Given the description of an element on the screen output the (x, y) to click on. 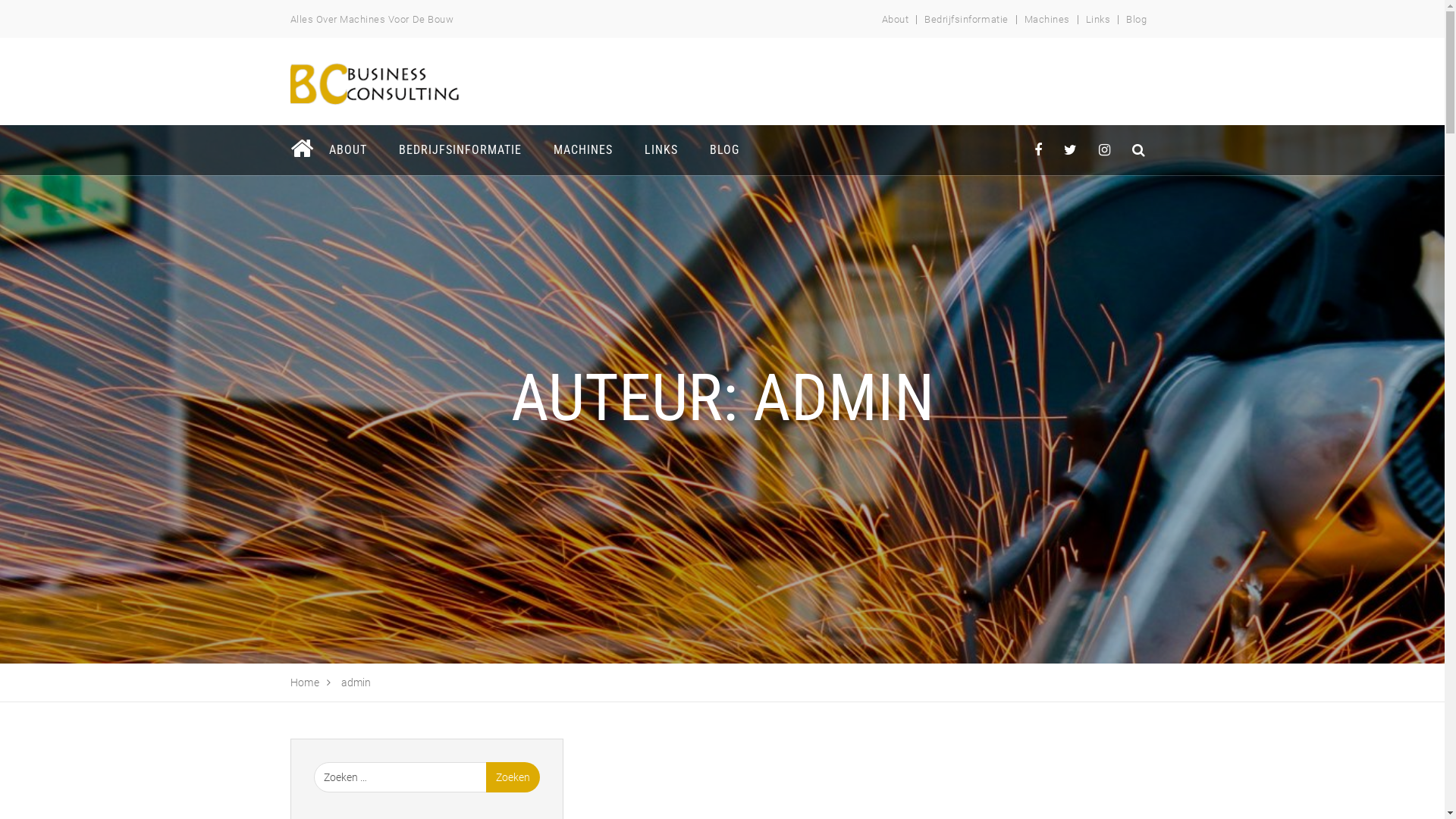
BEDRIJFSINFORMATIE Element type: text (459, 149)
Machines Element type: text (1047, 19)
Blog Element type: text (1136, 19)
Zoeken Element type: text (512, 777)
ABOUT Element type: text (347, 149)
Home Element type: text (304, 682)
BLOG Element type: text (723, 149)
About Element type: text (895, 19)
behance Element type: hover (1138, 149)
Bedrijfsinformatie Element type: text (965, 19)
LINKS Element type: text (660, 149)
MACHINES Element type: text (581, 149)
Links Element type: text (1097, 19)
